Given the description of an element on the screen output the (x, y) to click on. 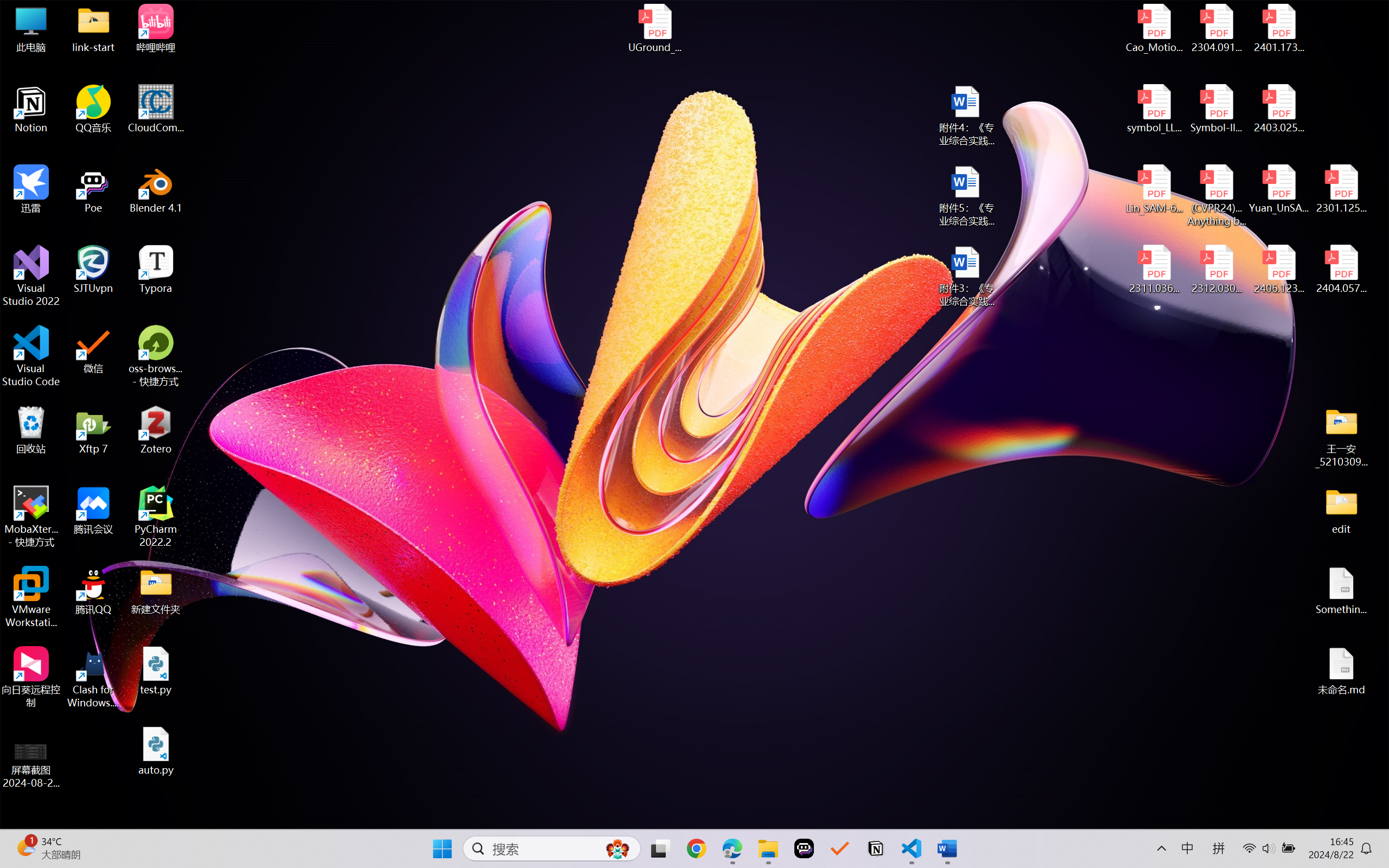
symbol_LLM.pdf (1154, 109)
Blender 4.1 (156, 189)
edit (1340, 510)
2404.05719v1.pdf (1340, 269)
